Given the description of an element on the screen output the (x, y) to click on. 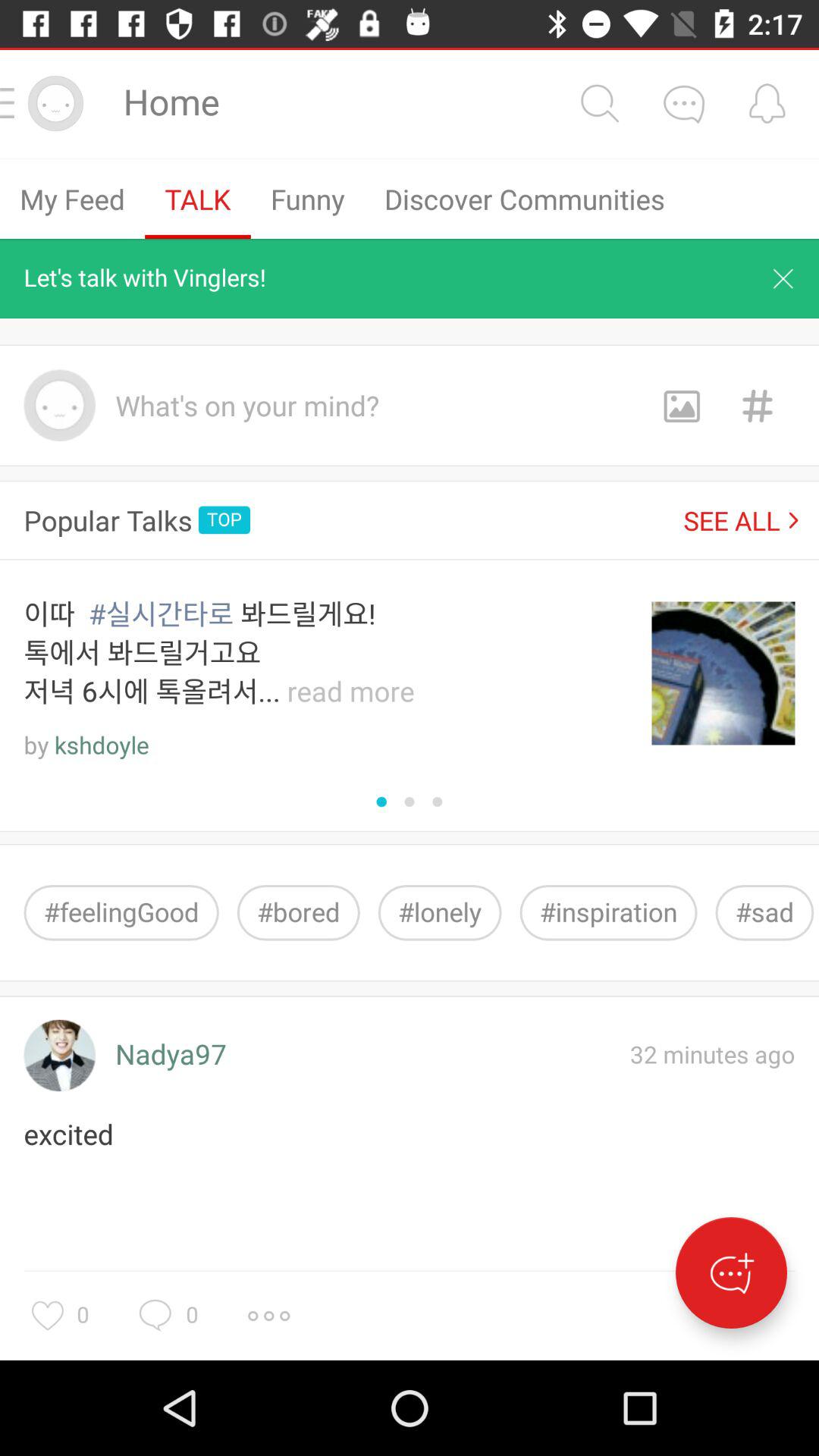
shows message icon (683, 103)
